Given the description of an element on the screen output the (x, y) to click on. 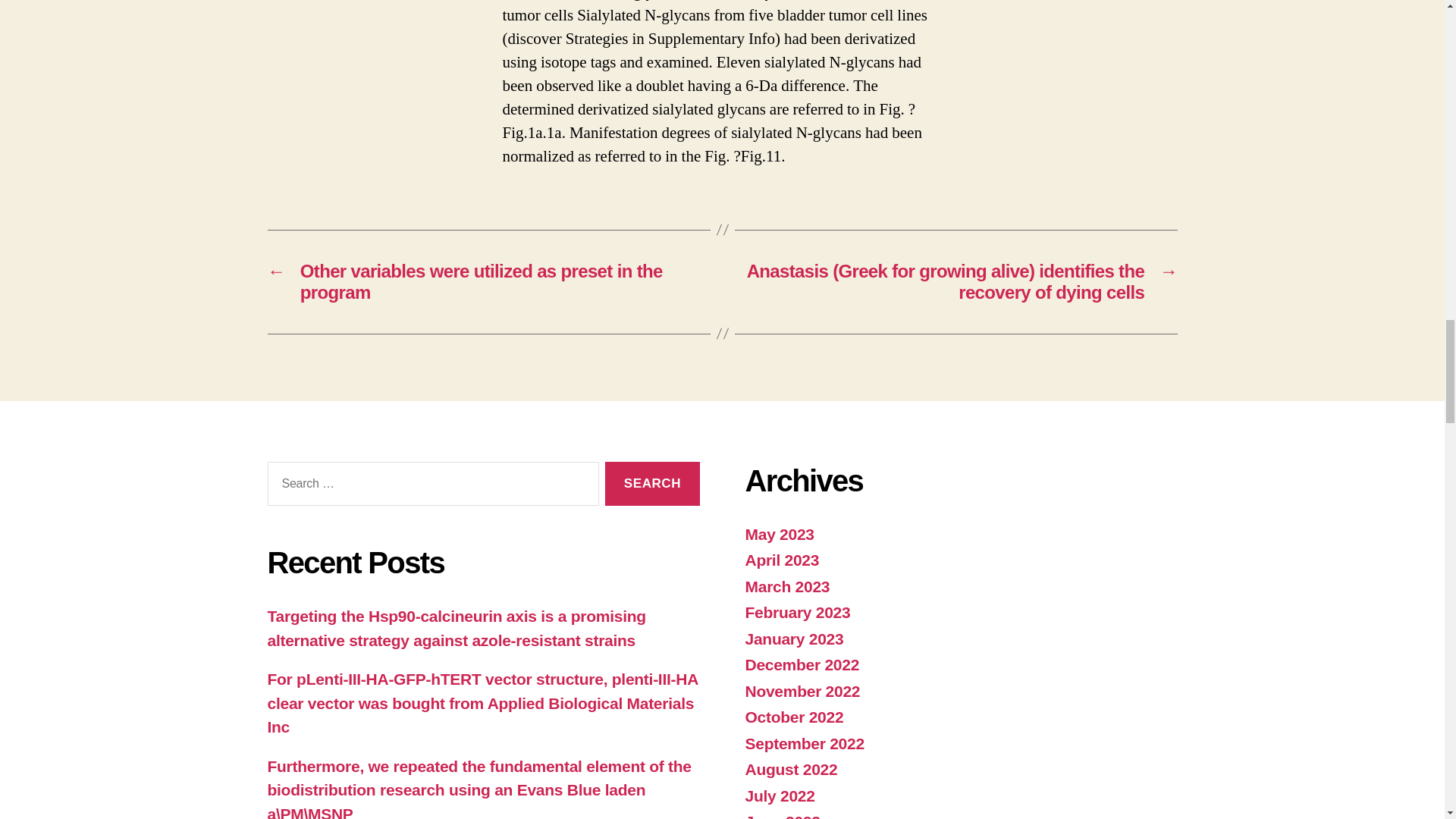
September 2022 (803, 743)
November 2022 (802, 691)
May 2023 (778, 533)
October 2022 (793, 716)
August 2022 (790, 769)
Search (651, 483)
June 2022 (781, 816)
March 2023 (786, 586)
Search (651, 483)
July 2022 (778, 795)
January 2023 (793, 638)
February 2023 (797, 611)
December 2022 (801, 664)
